Given the description of an element on the screen output the (x, y) to click on. 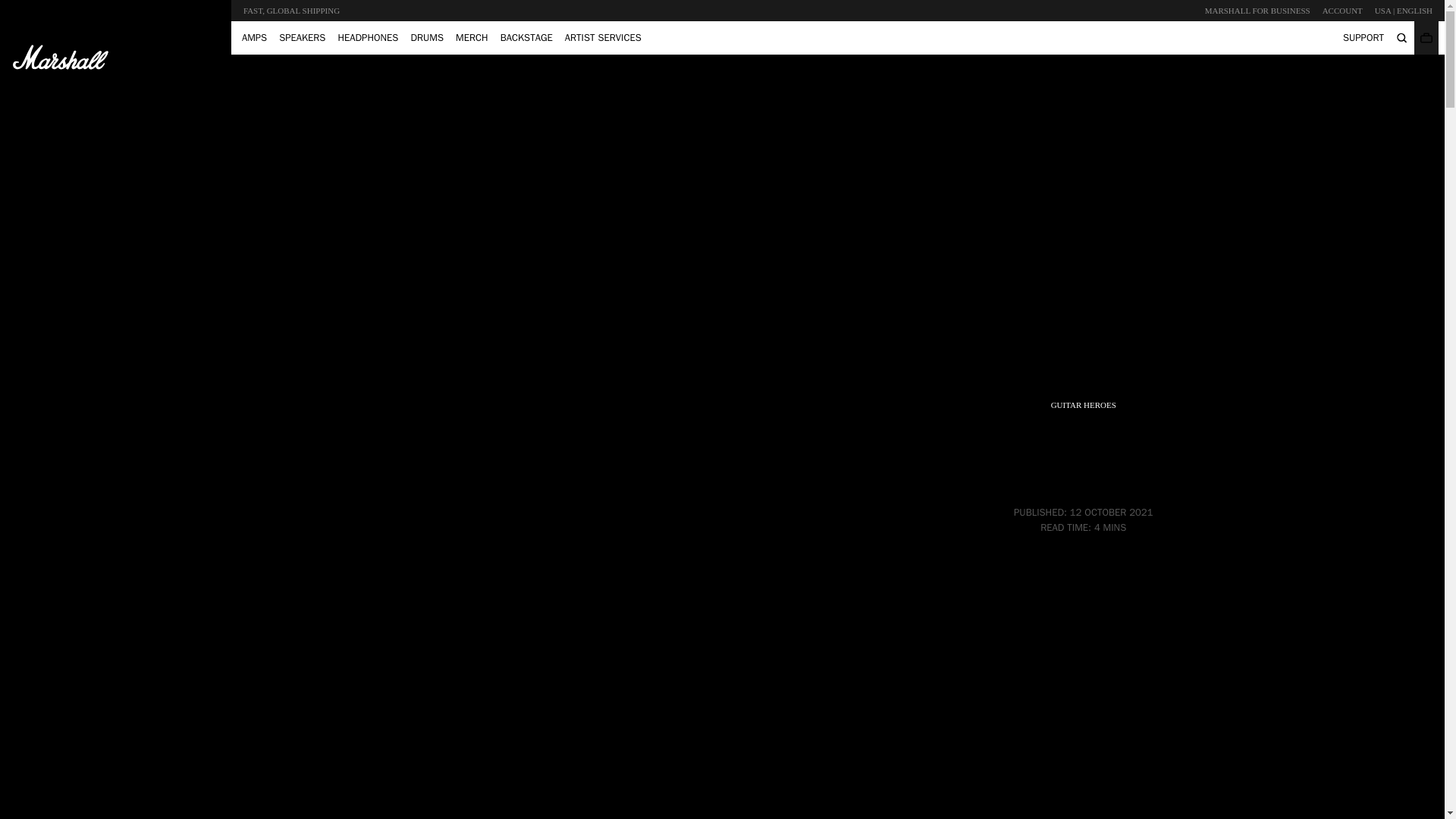
GUITAR HEROES (1083, 404)
SPEAKERS (302, 37)
MERCH (472, 37)
HEADPHONES (367, 37)
MARSHALL FOR BUSINESS (1257, 10)
AMPS (254, 37)
ARTIST SERVICES (603, 37)
BACKSTAGE (527, 37)
ACCOUNT (1342, 10)
DRUMS (426, 37)
